Given the description of an element on the screen output the (x, y) to click on. 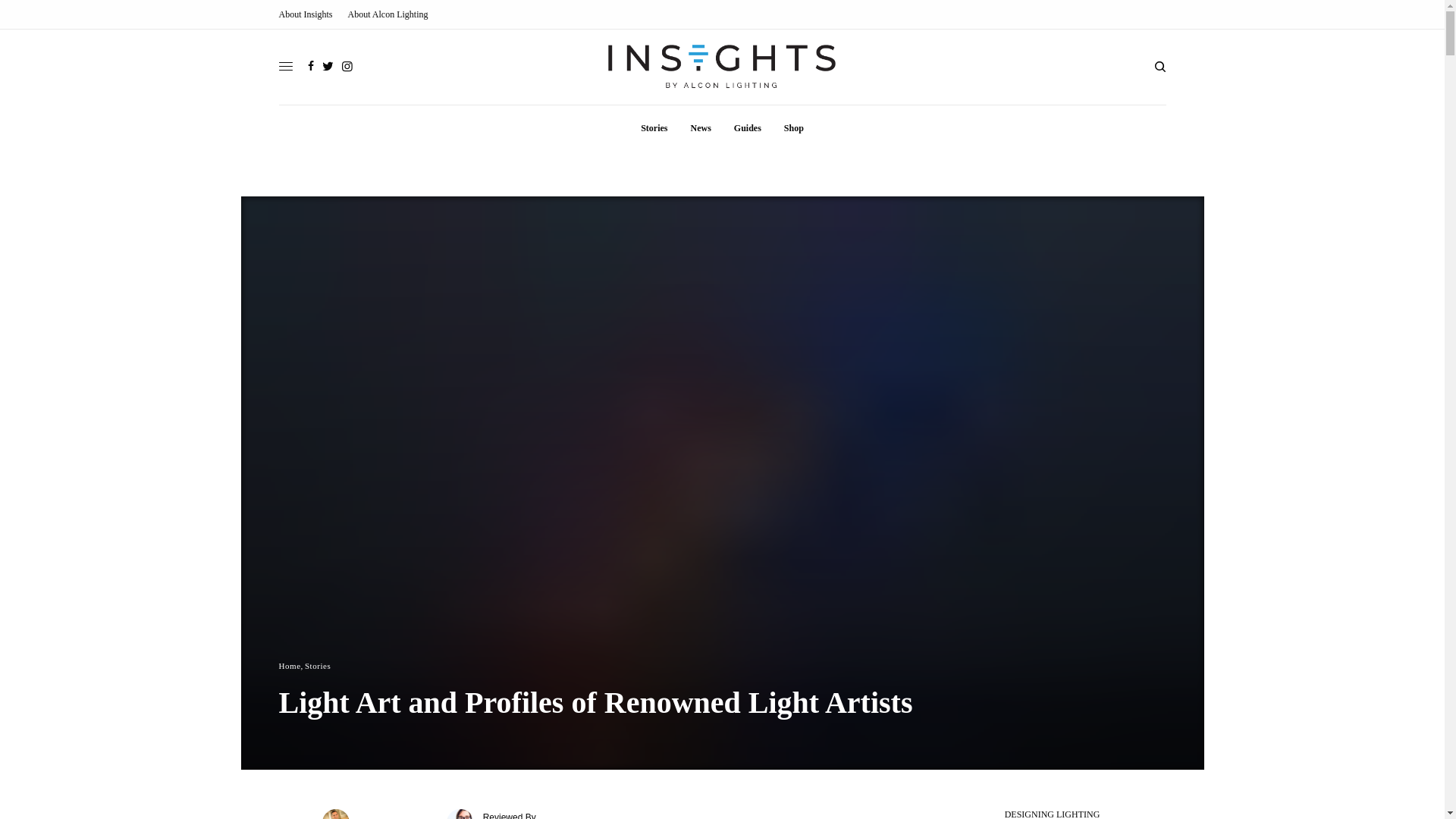
Stories (317, 665)
Insights (721, 67)
About Insights (306, 14)
David Hakimi (399, 818)
David Hakimi (399, 818)
Home (290, 665)
About Alcon Lighting (387, 14)
